Given the description of an element on the screen output the (x, y) to click on. 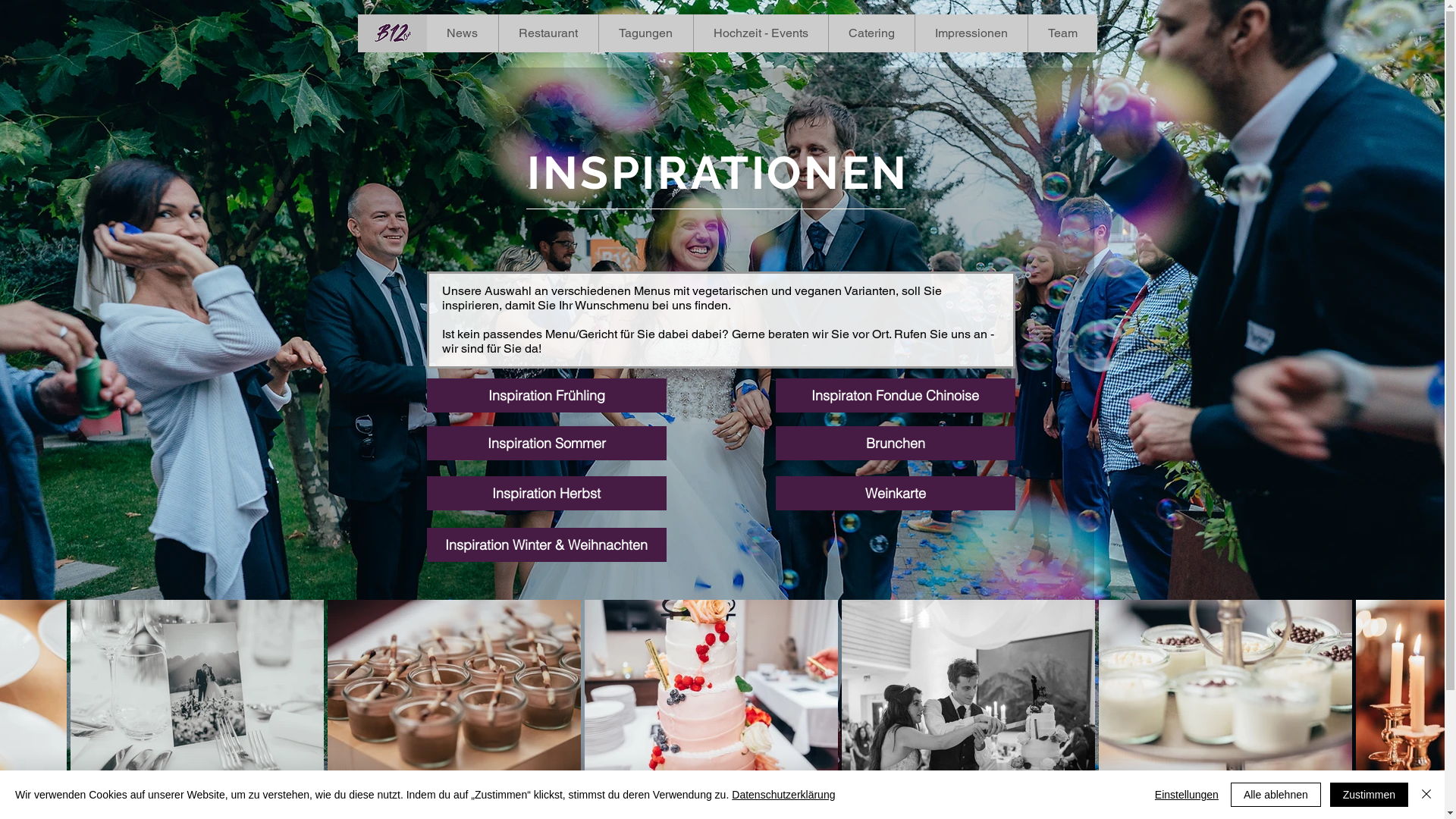
Inspiration Winter & Weihnachten Element type: text (545, 544)
Inspiration Sommer Element type: text (545, 443)
Catering Element type: text (871, 33)
Hochzeit - Events Element type: text (760, 33)
Inspiraton Fondue Chinoise Element type: text (894, 395)
Weinkarte Element type: text (894, 493)
News Element type: text (461, 33)
Impressionen Element type: text (970, 33)
Inspiration Herbst Element type: text (545, 493)
Team Element type: text (1061, 33)
Tagungen Element type: text (644, 33)
Alle ablehnen Element type: text (1275, 794)
Zustimmen Element type: text (1369, 794)
Brunchen Element type: text (894, 443)
Restaurant Element type: text (547, 33)
